Given the description of an element on the screen output the (x, y) to click on. 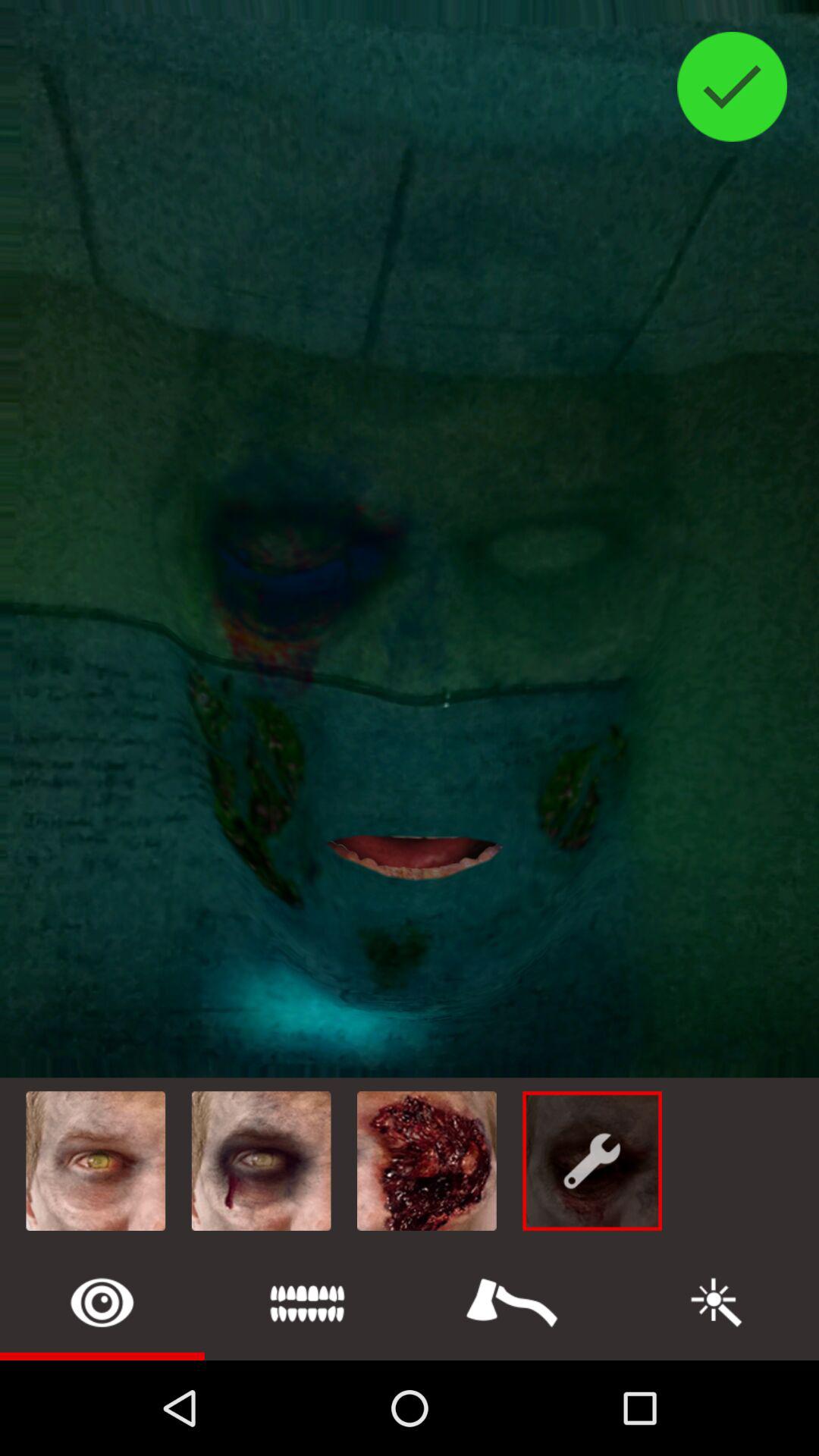
modify teeth (306, 1302)
